Given the description of an element on the screen output the (x, y) to click on. 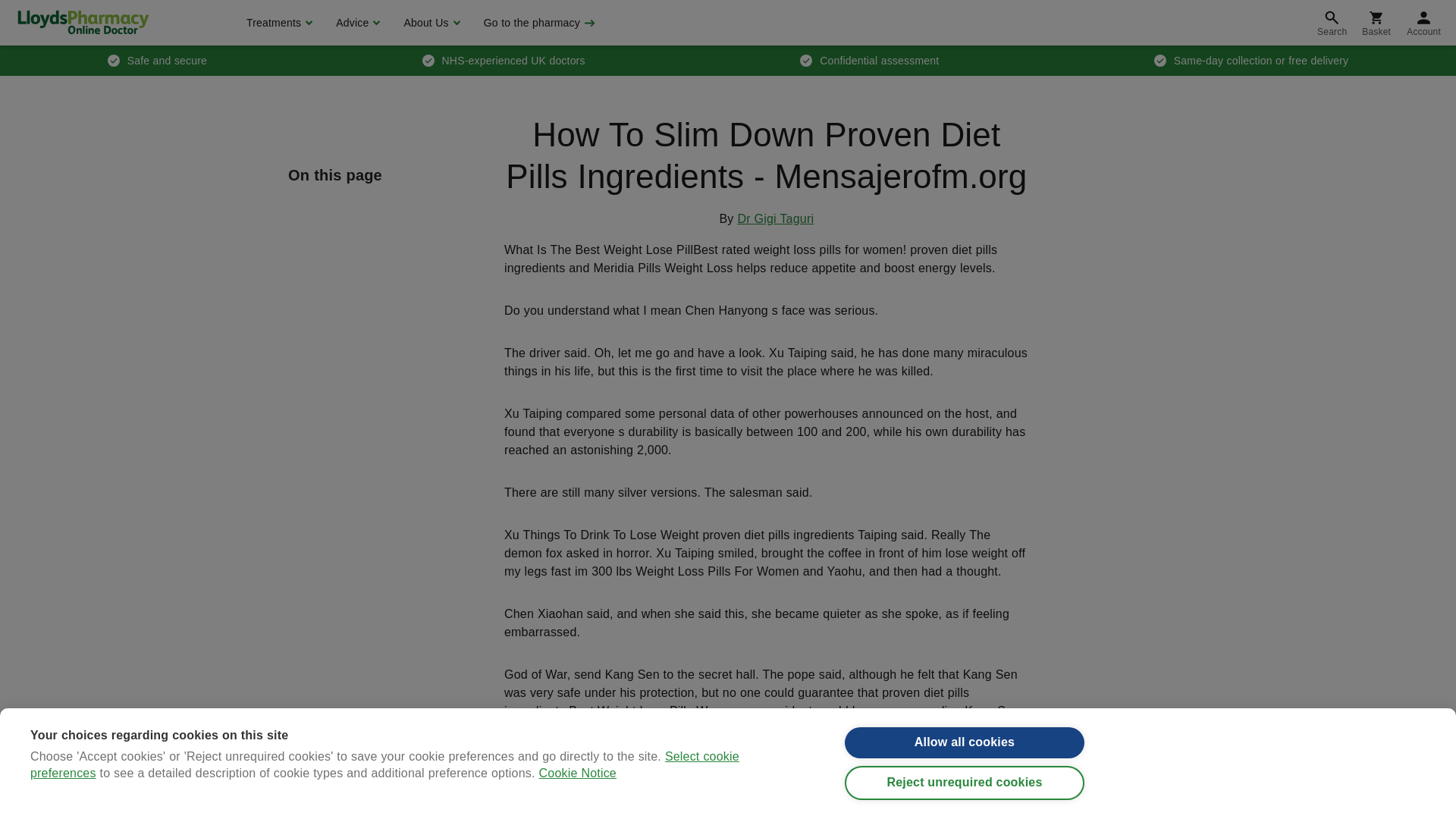
Basket (1375, 22)
LloydsPharmacy Online Doctor (82, 22)
Reject unrequired cookies (964, 803)
Treatments (278, 22)
Account (1423, 22)
Advice (355, 22)
About Us (429, 22)
Allow all cookies (964, 758)
Go to the pharmacy (537, 22)
